Given the description of an element on the screen output the (x, y) to click on. 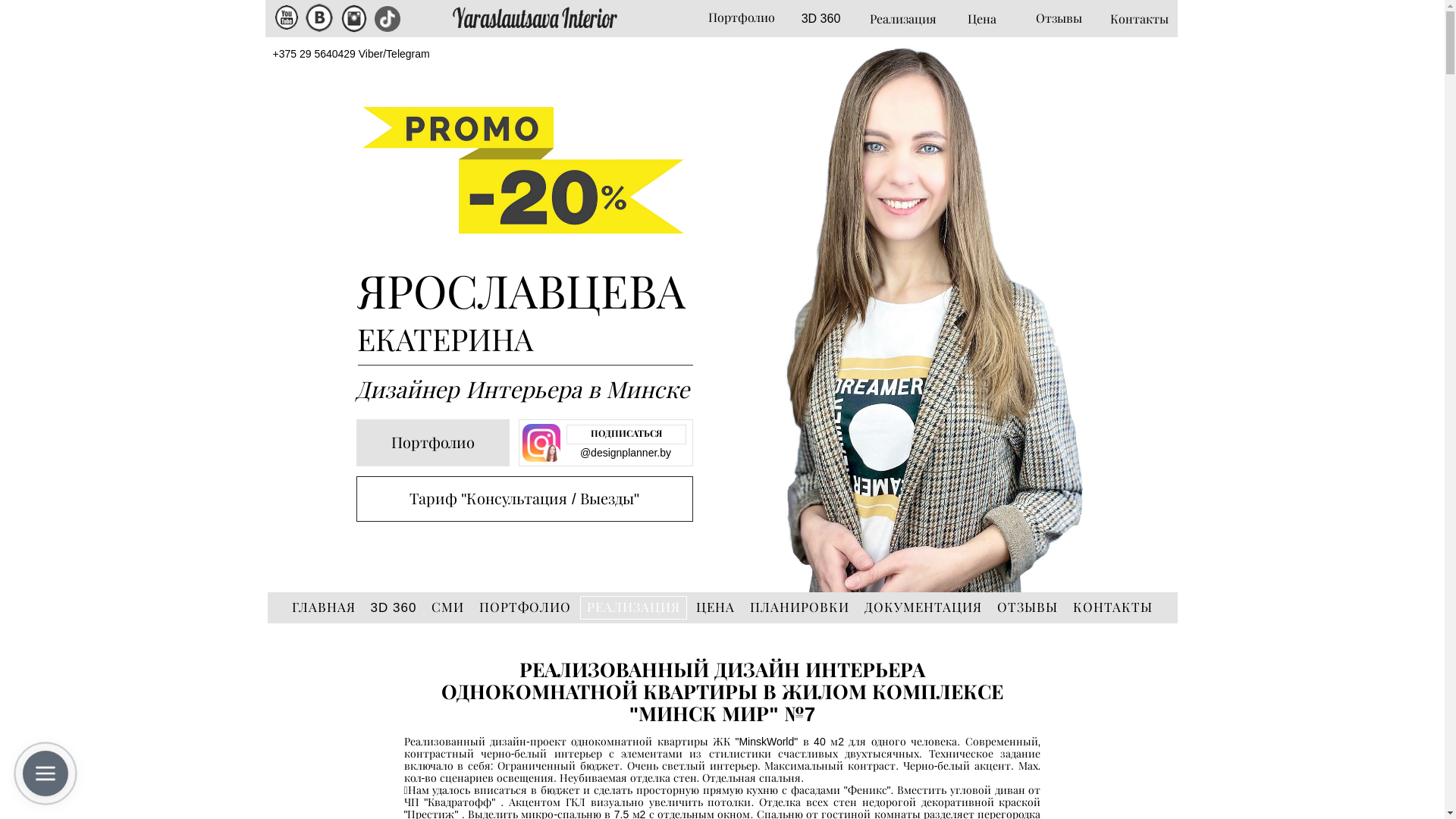
3D 360 Element type: text (820, 19)
3D 360 Element type: text (393, 607)
